Given the description of an element on the screen output the (x, y) to click on. 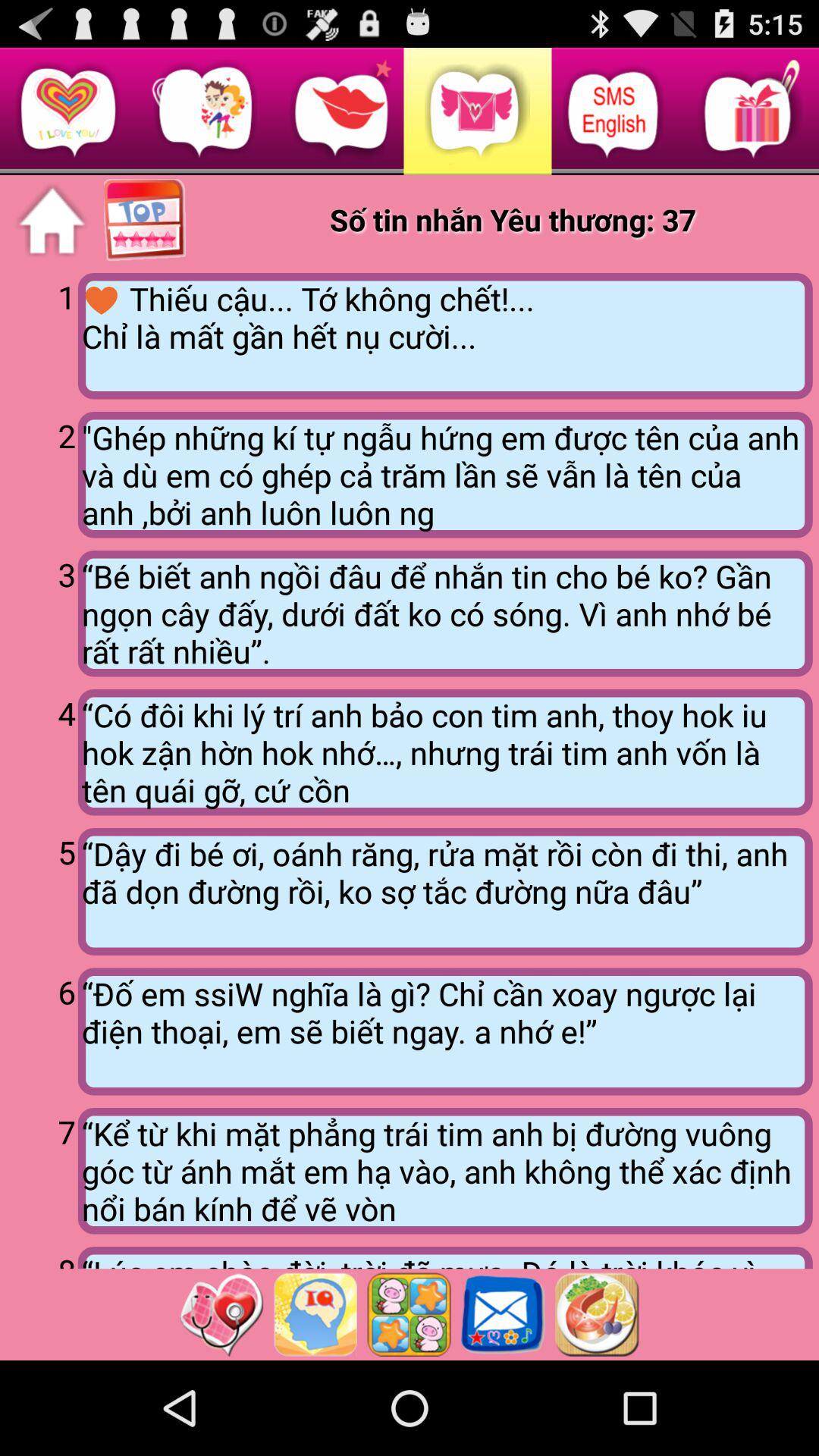
choose app to the right of the 1 (444, 336)
